Given the description of an element on the screen output the (x, y) to click on. 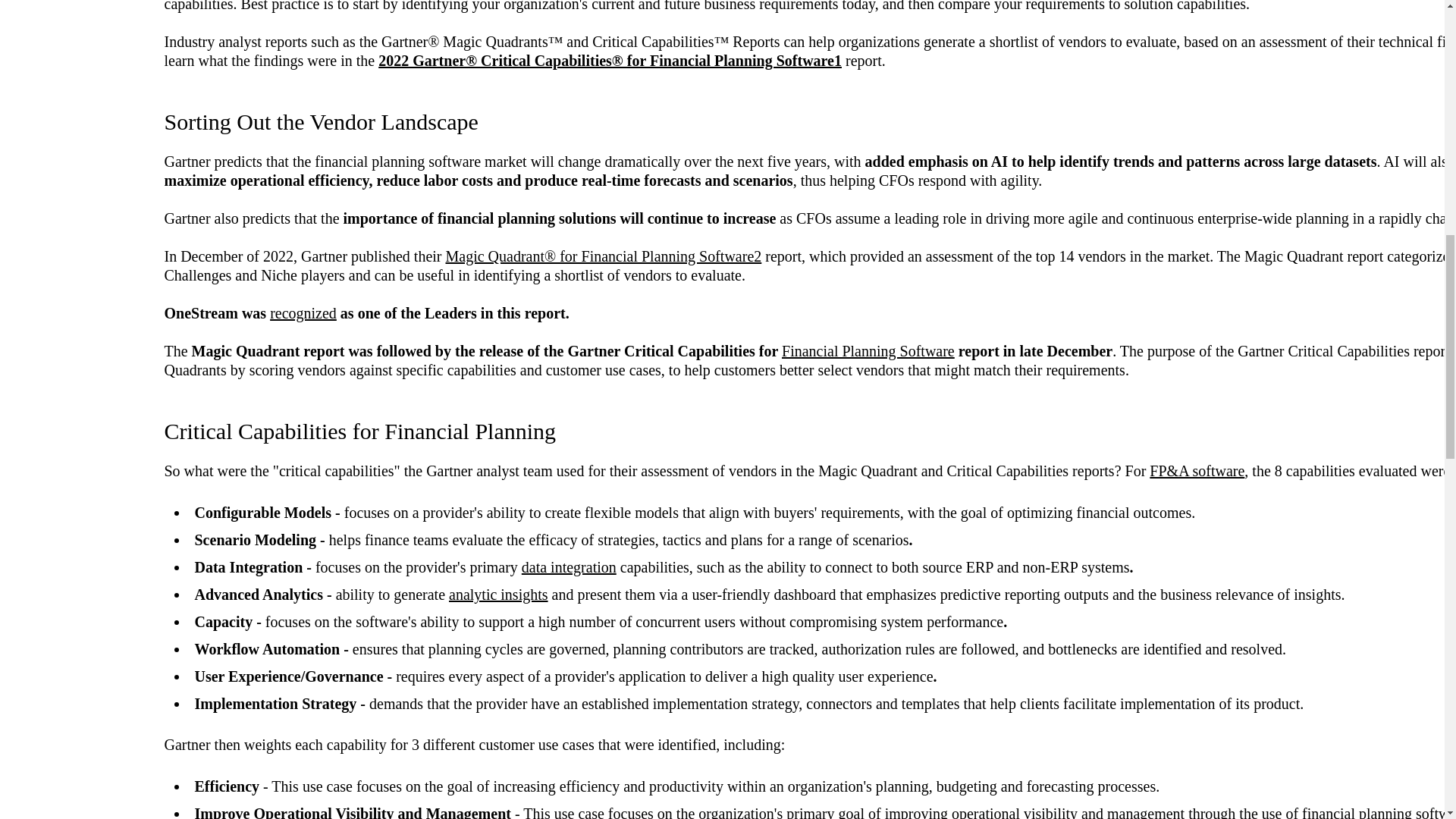
recognized (302, 312)
Financial Planning Software (868, 351)
data integration (568, 566)
analytic insights (498, 594)
